Given the description of an element on the screen output the (x, y) to click on. 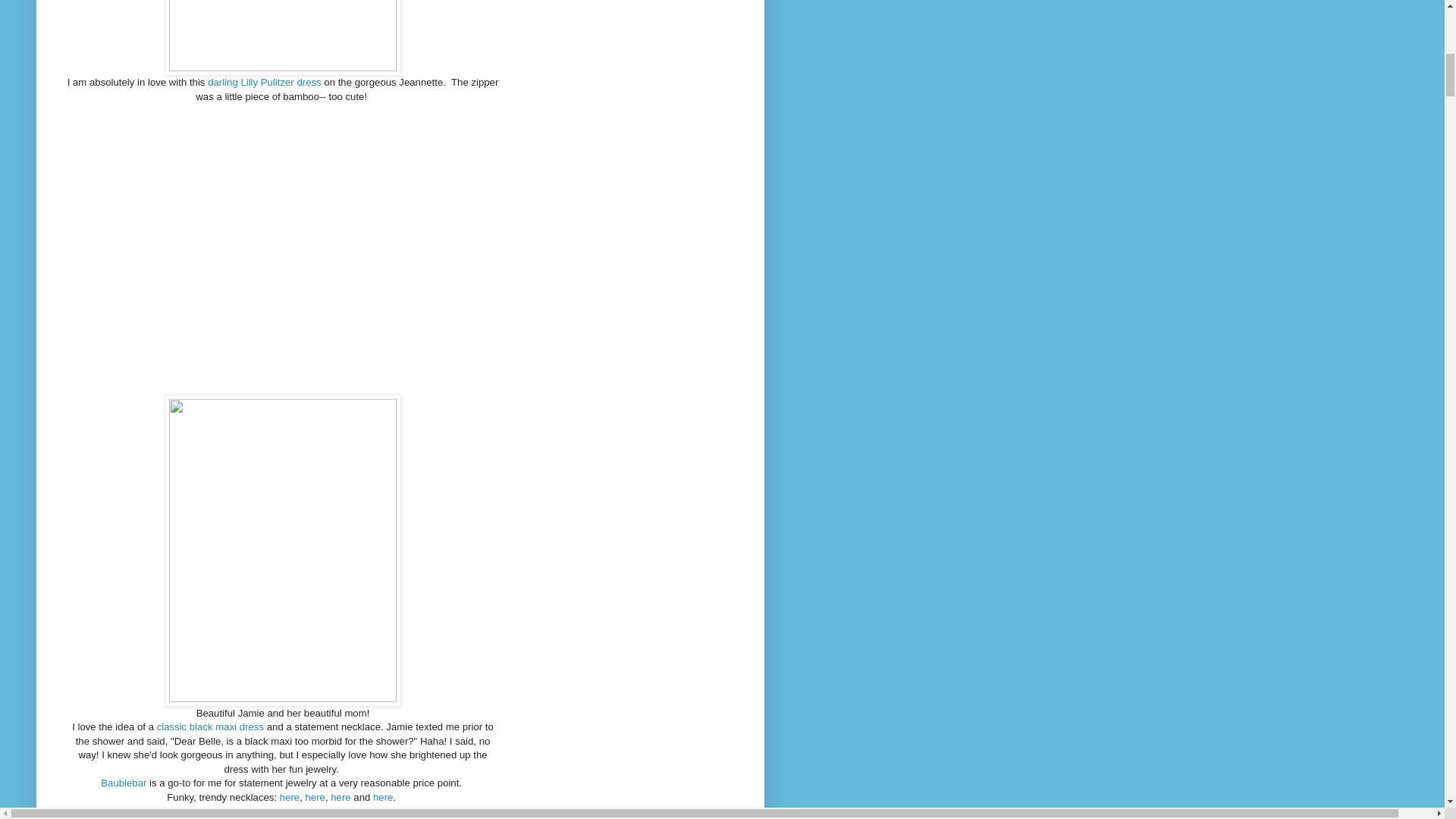
darling Lilly Pulitzer dress (264, 81)
classic black maxi dress (210, 726)
here (340, 797)
Baublebar (123, 782)
here (314, 797)
here (289, 797)
here (382, 797)
